Given the description of an element on the screen output the (x, y) to click on. 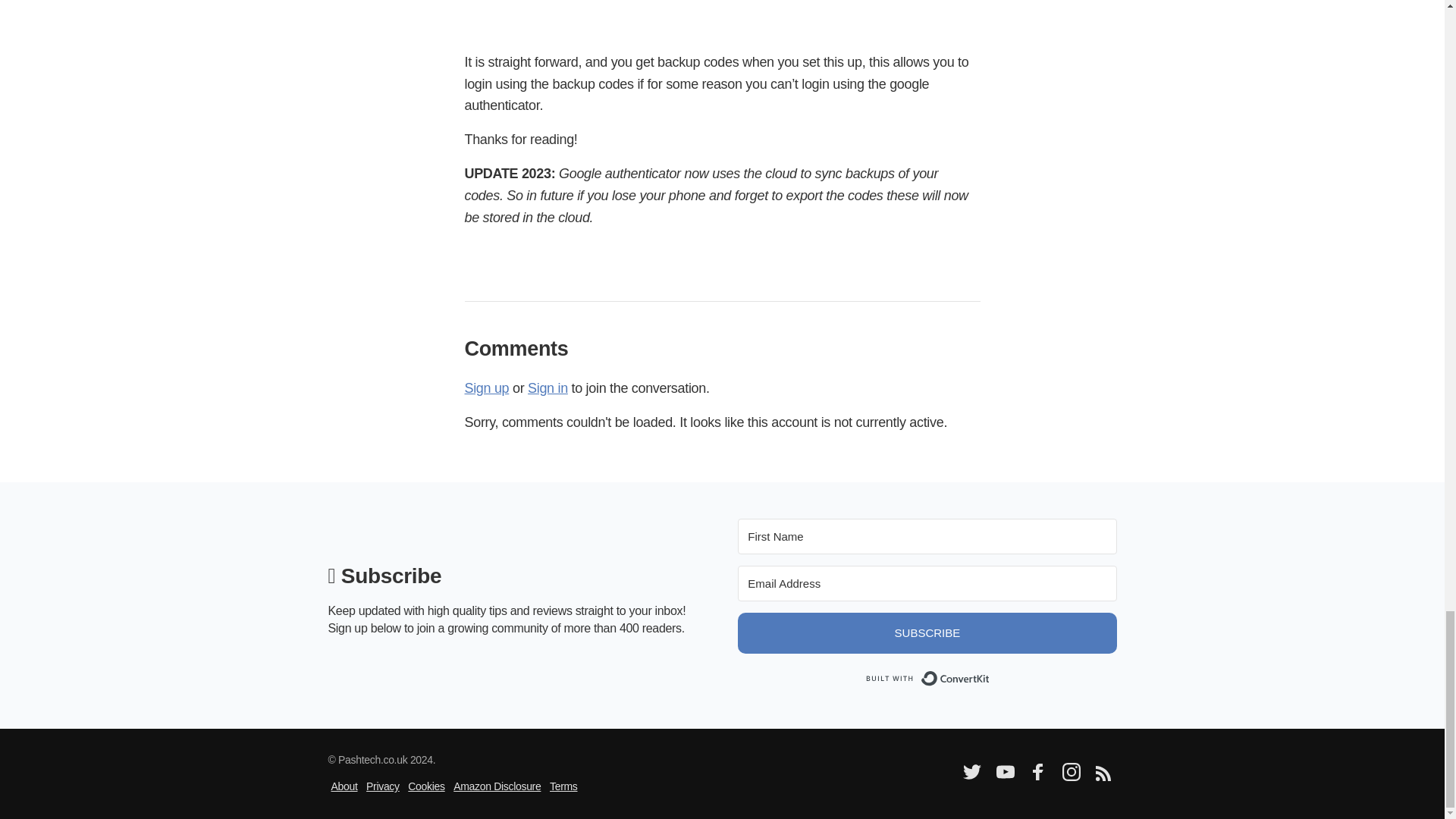
About (343, 786)
Amazon Disclosure (496, 786)
Cookies (425, 786)
Built with ConvertKit (927, 678)
Terms (564, 786)
Sign up (486, 387)
Sign in (547, 387)
RSS (1101, 776)
SUBSCRIBE (927, 632)
Privacy (382, 786)
